Given the description of an element on the screen output the (x, y) to click on. 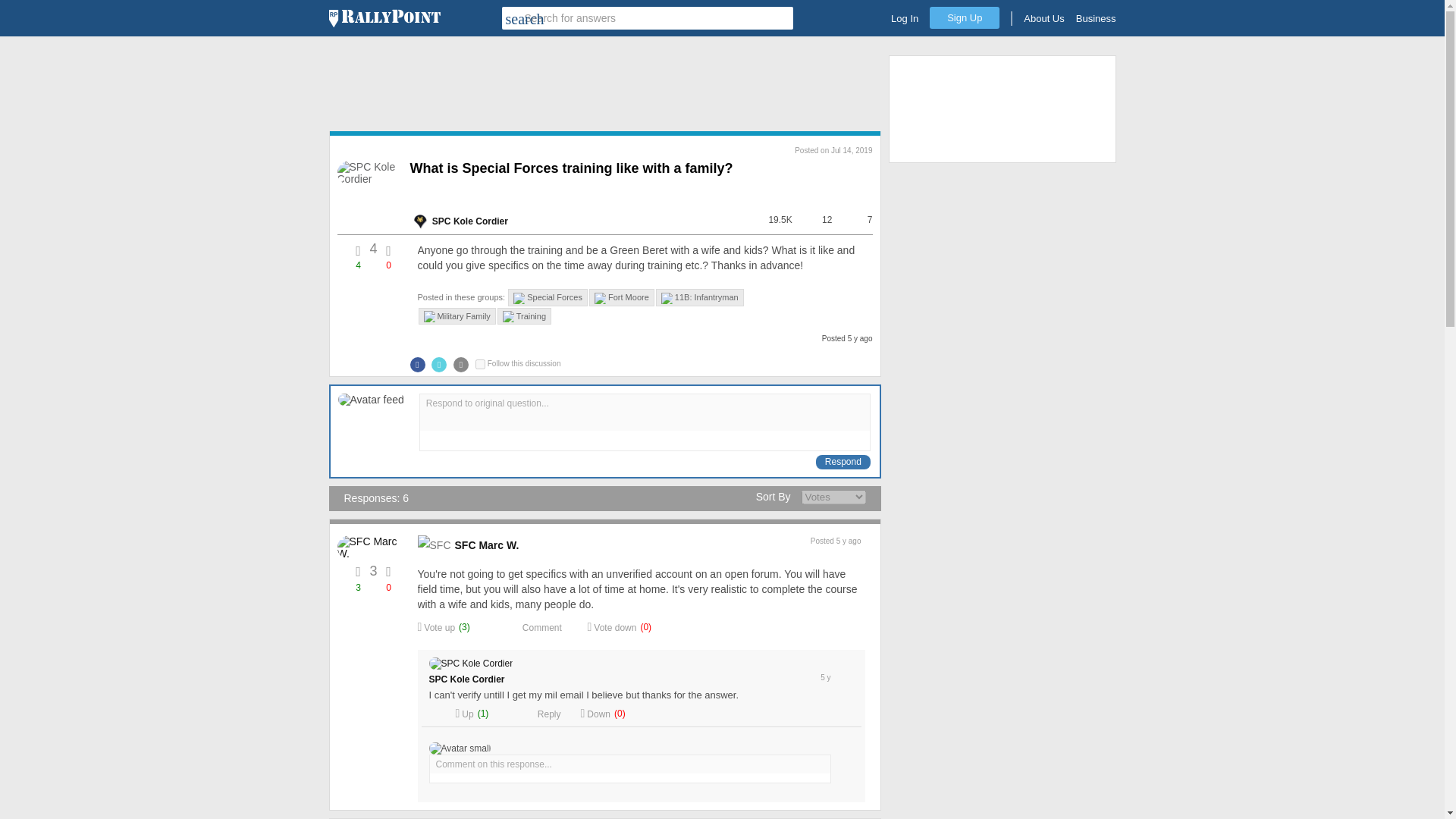
Vote up (435, 626)
1 (480, 364)
Military Family (457, 316)
Kole Cordier (477, 679)
SPC (419, 220)
Vote down (611, 626)
11B: Infantryman (700, 297)
SPC (441, 221)
SPC (438, 679)
Up (463, 713)
